Given the description of an element on the screen output the (x, y) to click on. 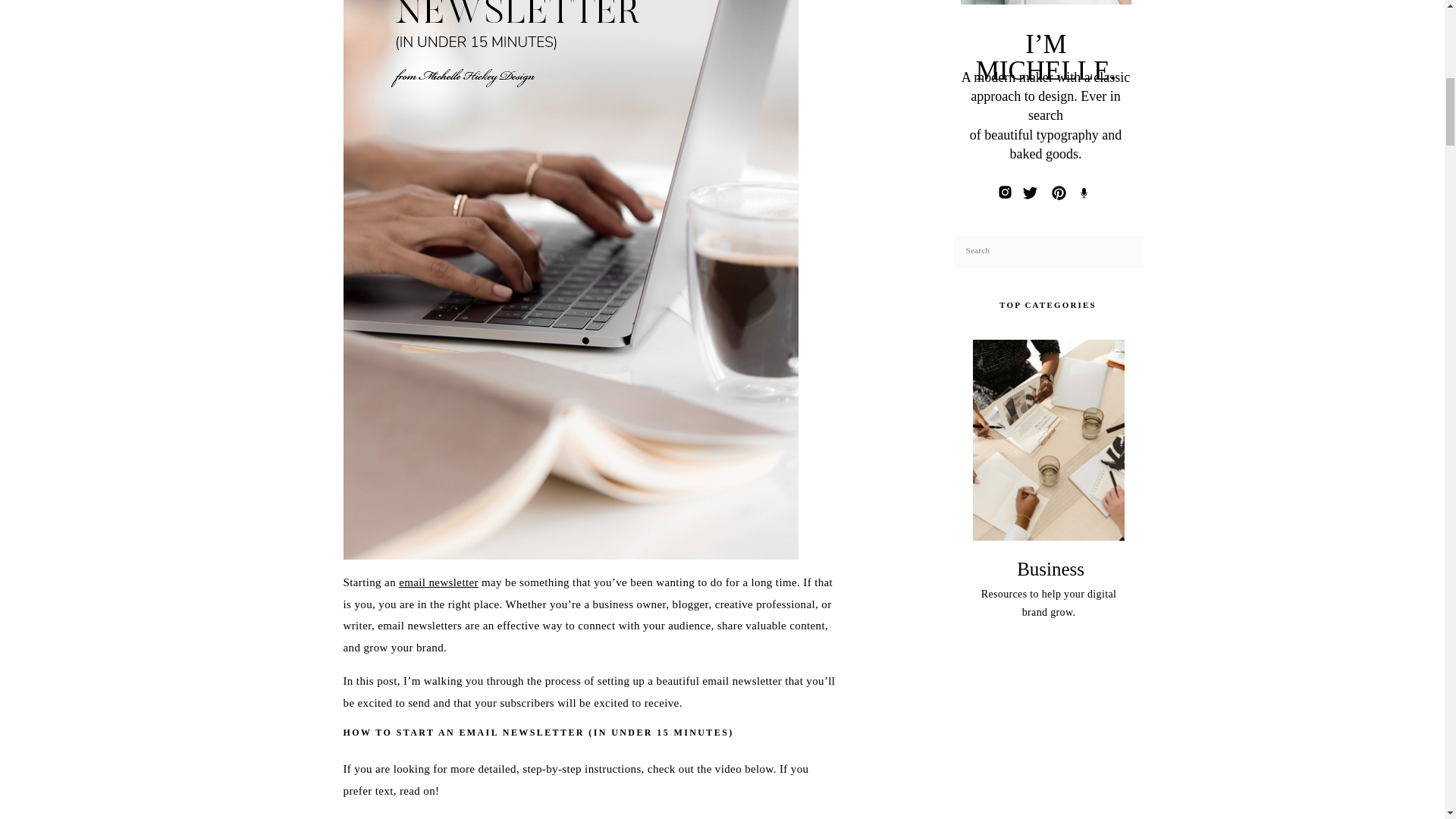
 Business (1048, 569)
Resources to help your digital brand grow. (1049, 604)
email newsletter (438, 582)
